Given the description of an element on the screen output the (x, y) to click on. 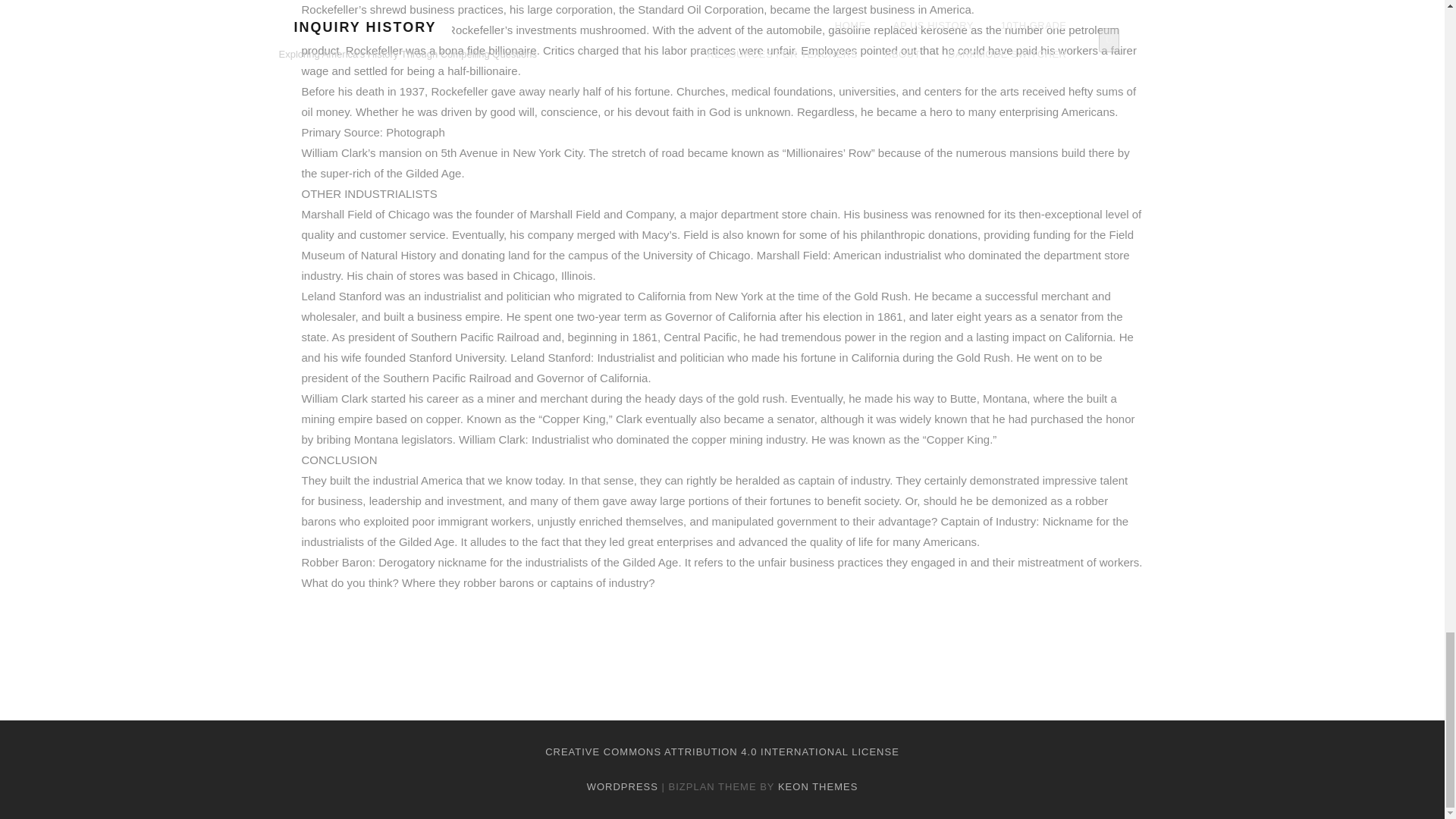
KEON THEMES (817, 786)
WORDPRESS (622, 786)
CREATIVE COMMONS ATTRIBUTION 4.0 INTERNATIONAL LICENSE (721, 751)
